Given the description of an element on the screen output the (x, y) to click on. 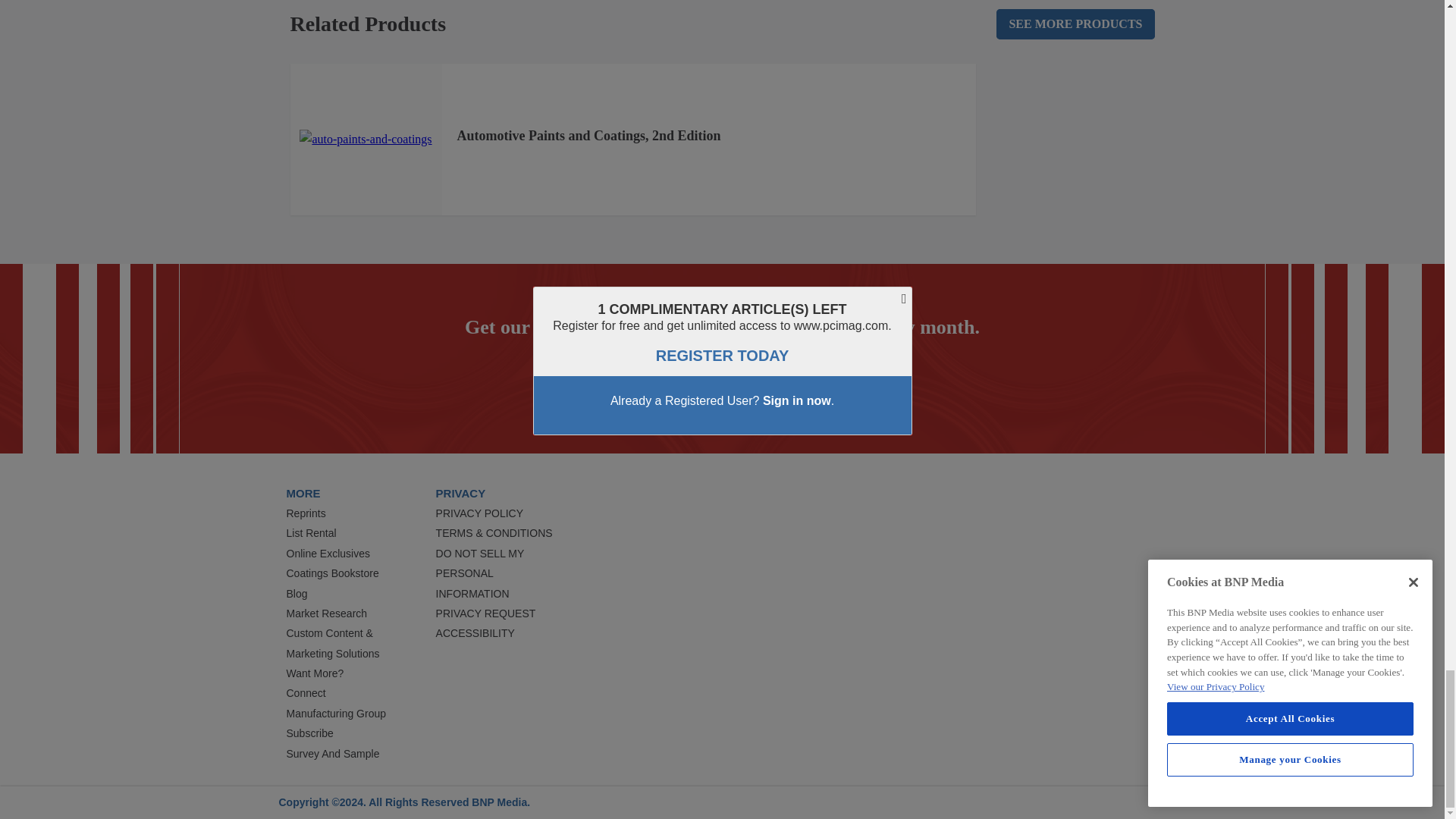
auto-paints-and-coatings (364, 139)
